Given the description of an element on the screen output the (x, y) to click on. 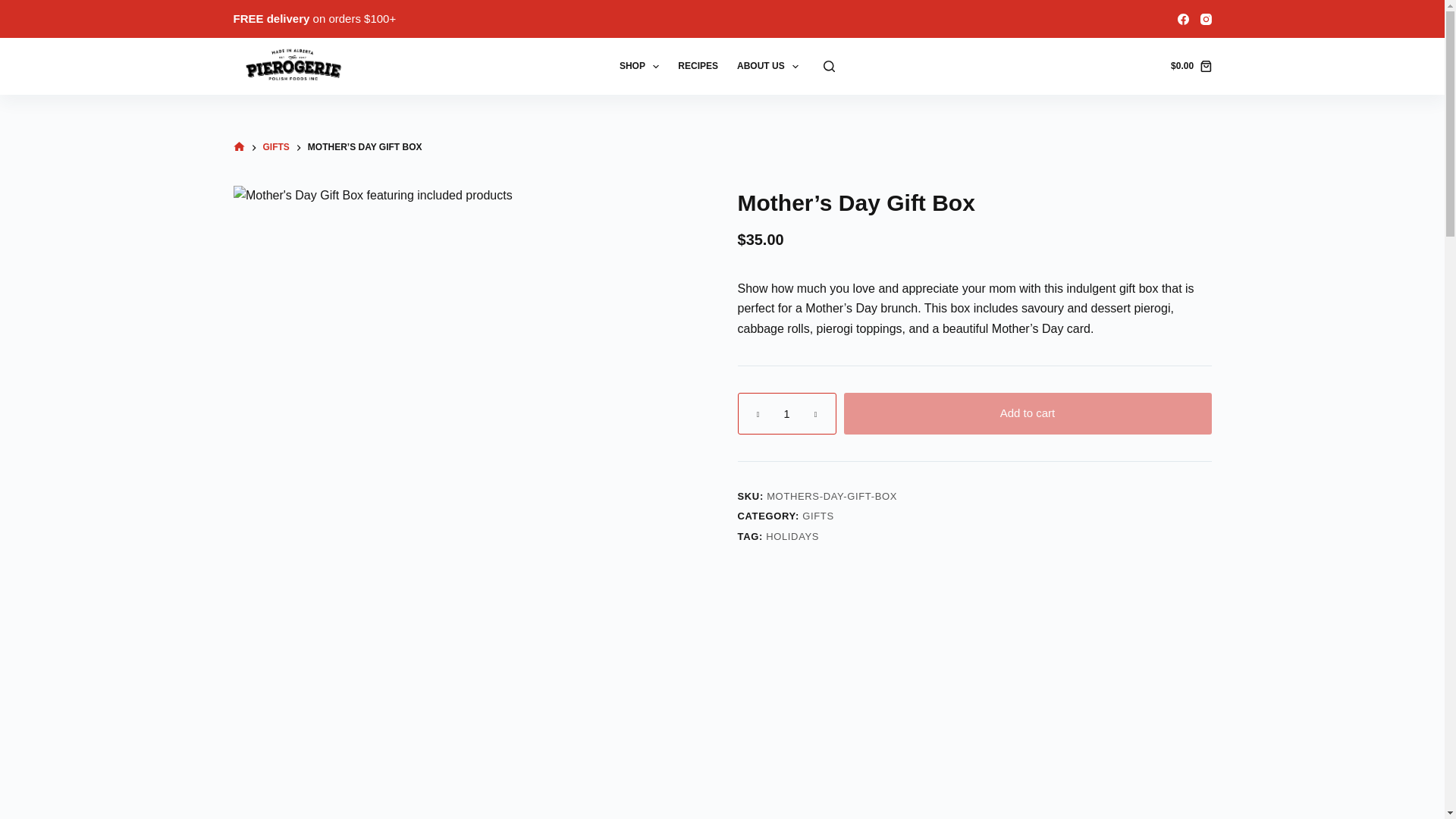
1 (785, 413)
Skip to content (15, 7)
Learn more about us and visit our farm. (768, 66)
Recipes and cooking ideas featuring our products. (698, 66)
SHOP (639, 66)
